Given the description of an element on the screen output the (x, y) to click on. 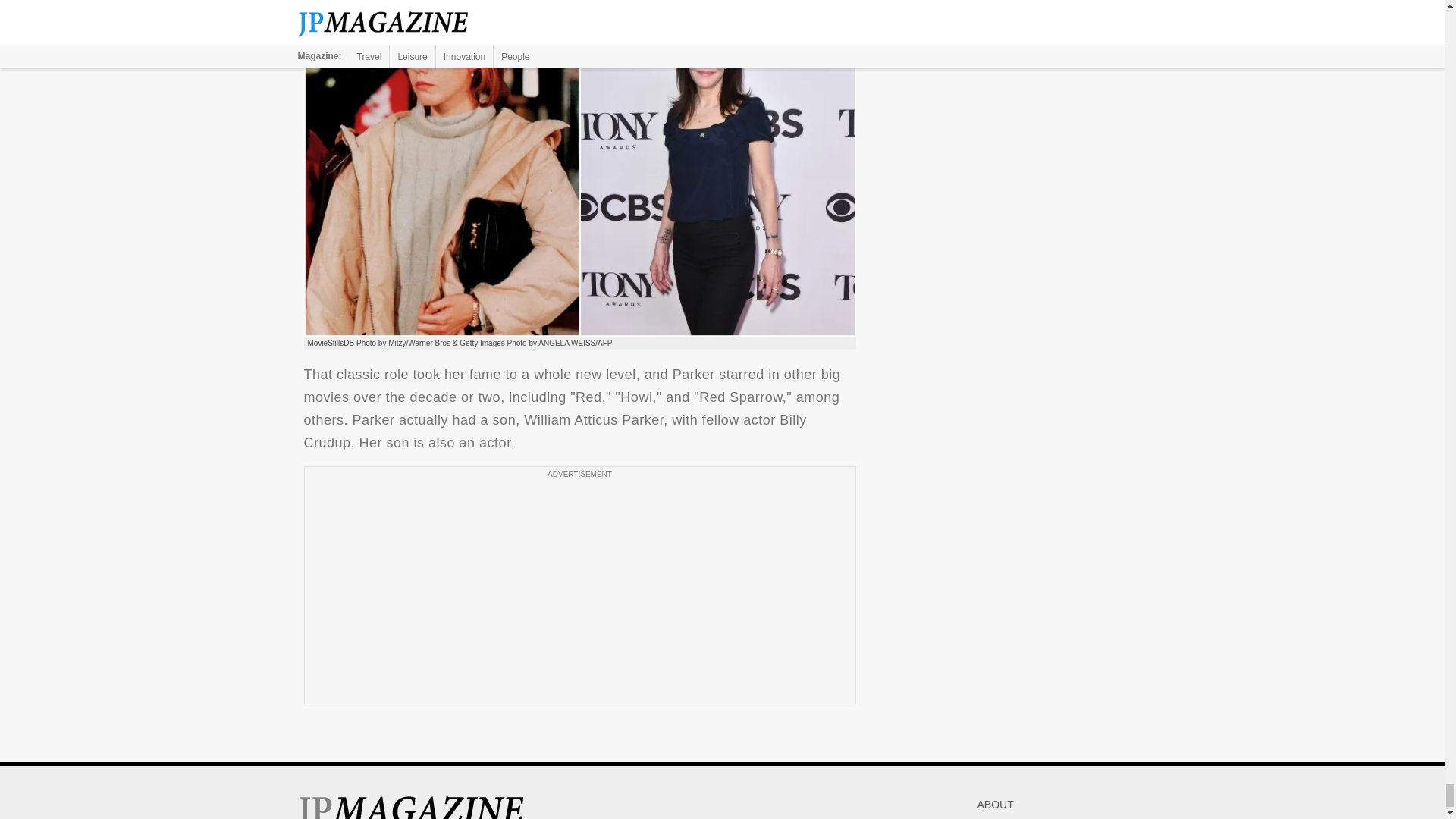
ABOUT (994, 804)
